Given the description of an element on the screen output the (x, y) to click on. 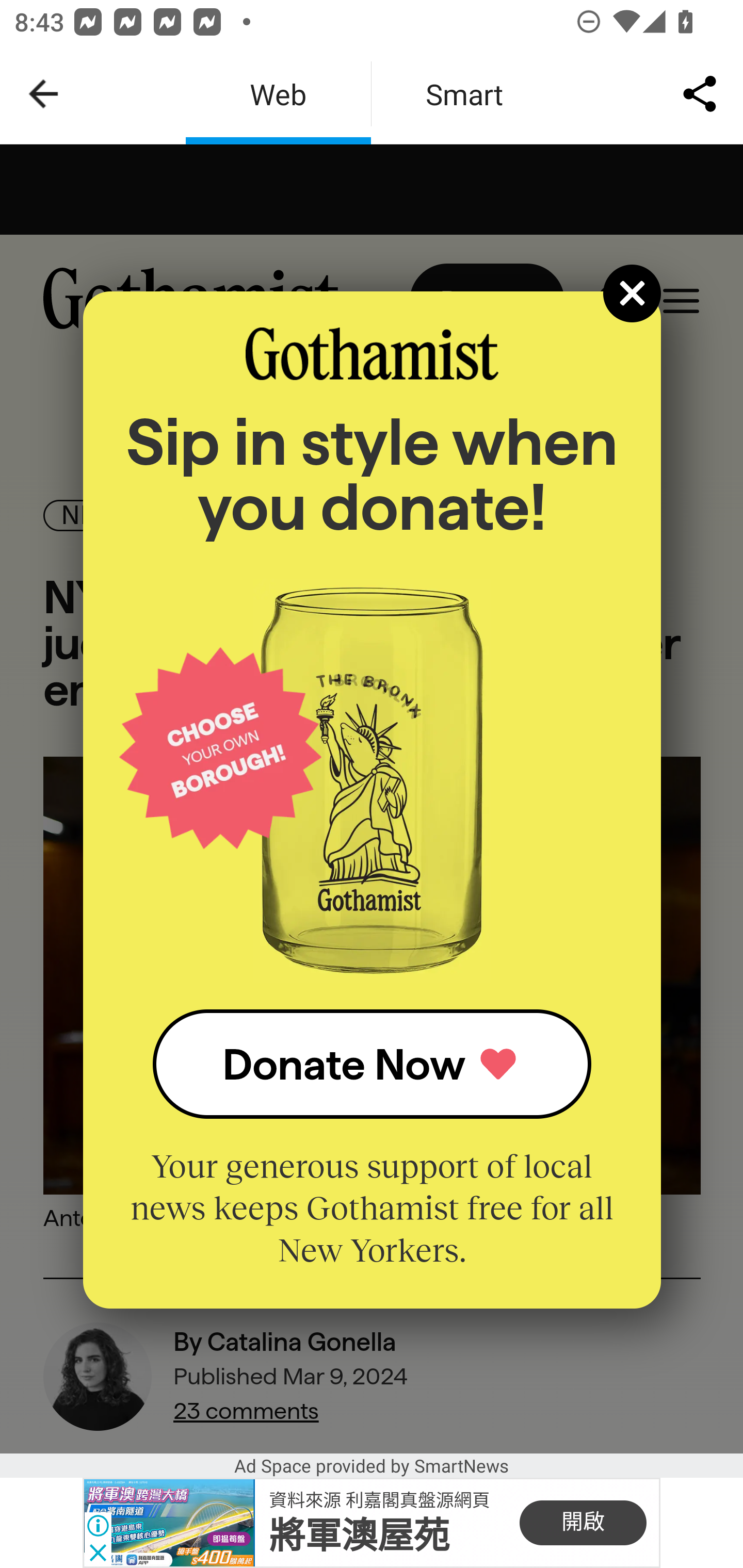
Web (277, 93)
Smart (464, 93)
Close (632, 293)
Gothamist (371, 354)
Donate Now (371, 1063)
B29047822 (168, 1522)
資料來源 利嘉閣真盤源網頁 (379, 1499)
開啟 (582, 1522)
將軍澳屋苑 (359, 1535)
